Given the description of an element on the screen output the (x, y) to click on. 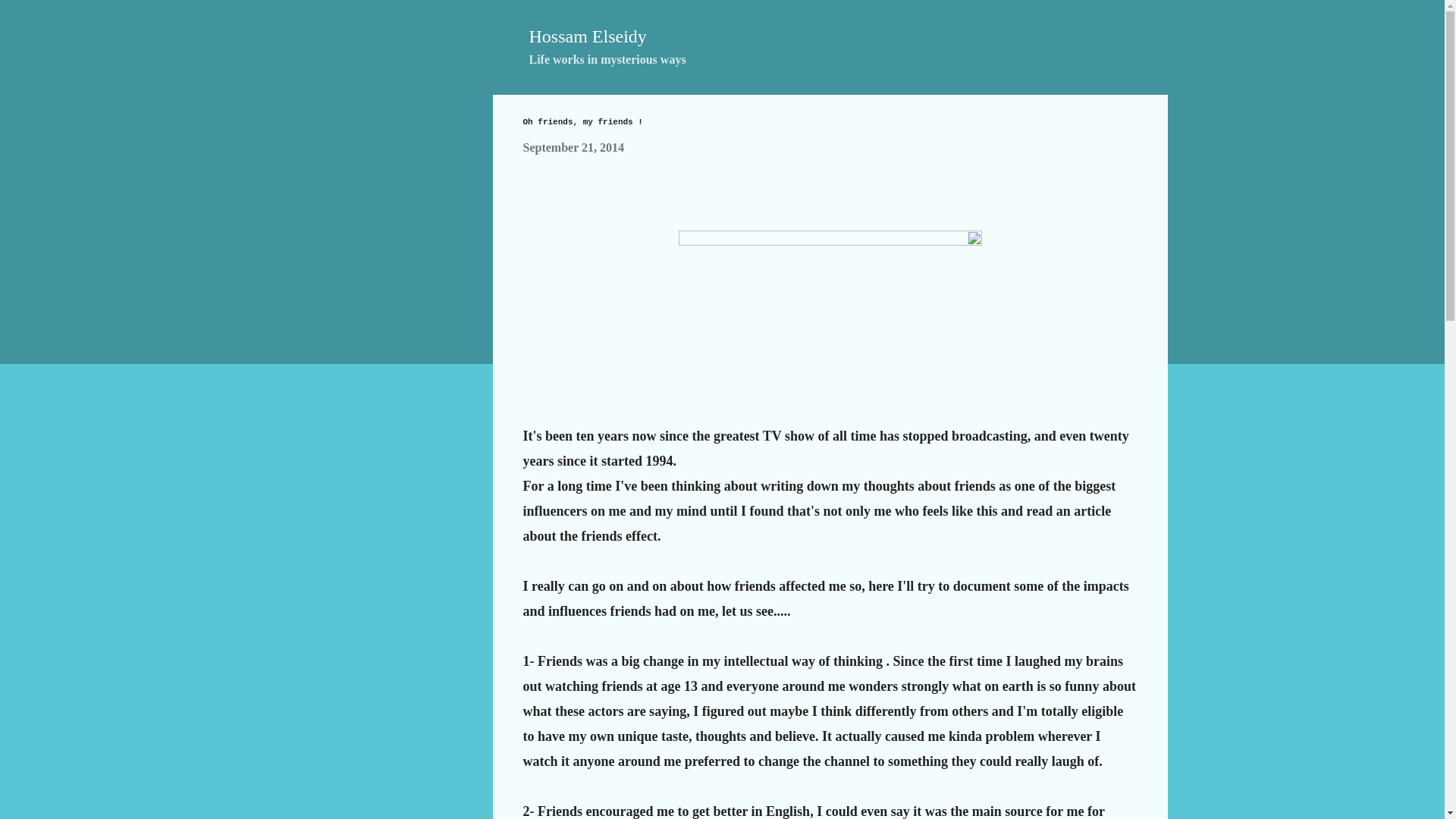
permanent link (573, 146)
Hossam Elseidy (587, 35)
September 21, 2014 (573, 146)
Search (31, 18)
